Given the description of an element on the screen output the (x, y) to click on. 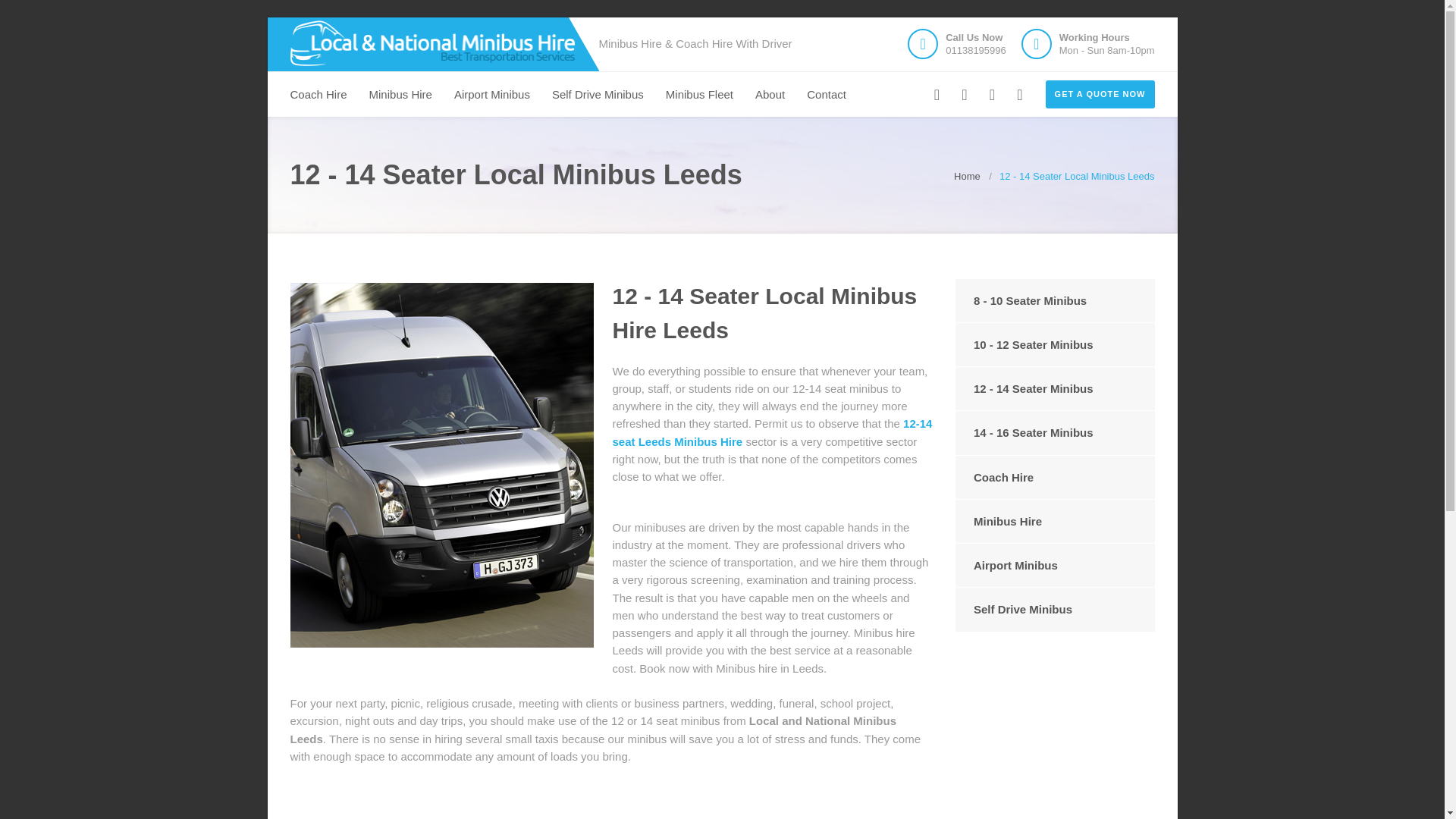
14 - 16 Seater Minibus (1054, 432)
Minibus Hire (400, 94)
Home (966, 175)
About (769, 94)
GET A QUOTE NOW (1099, 94)
Minibus Hire (1054, 520)
Minibus Fleet (699, 94)
Airport Minibus (1054, 565)
8 - 10 Seater Minibus (1054, 300)
12-14 seat Leeds Minibus Hire (772, 431)
Self Drive Minibus (1054, 609)
Airport Minibus (491, 94)
Coach Hire (317, 94)
Self Drive Minibus (597, 94)
12 - 14 Seater Minibus (1054, 388)
